Given the description of an element on the screen output the (x, y) to click on. 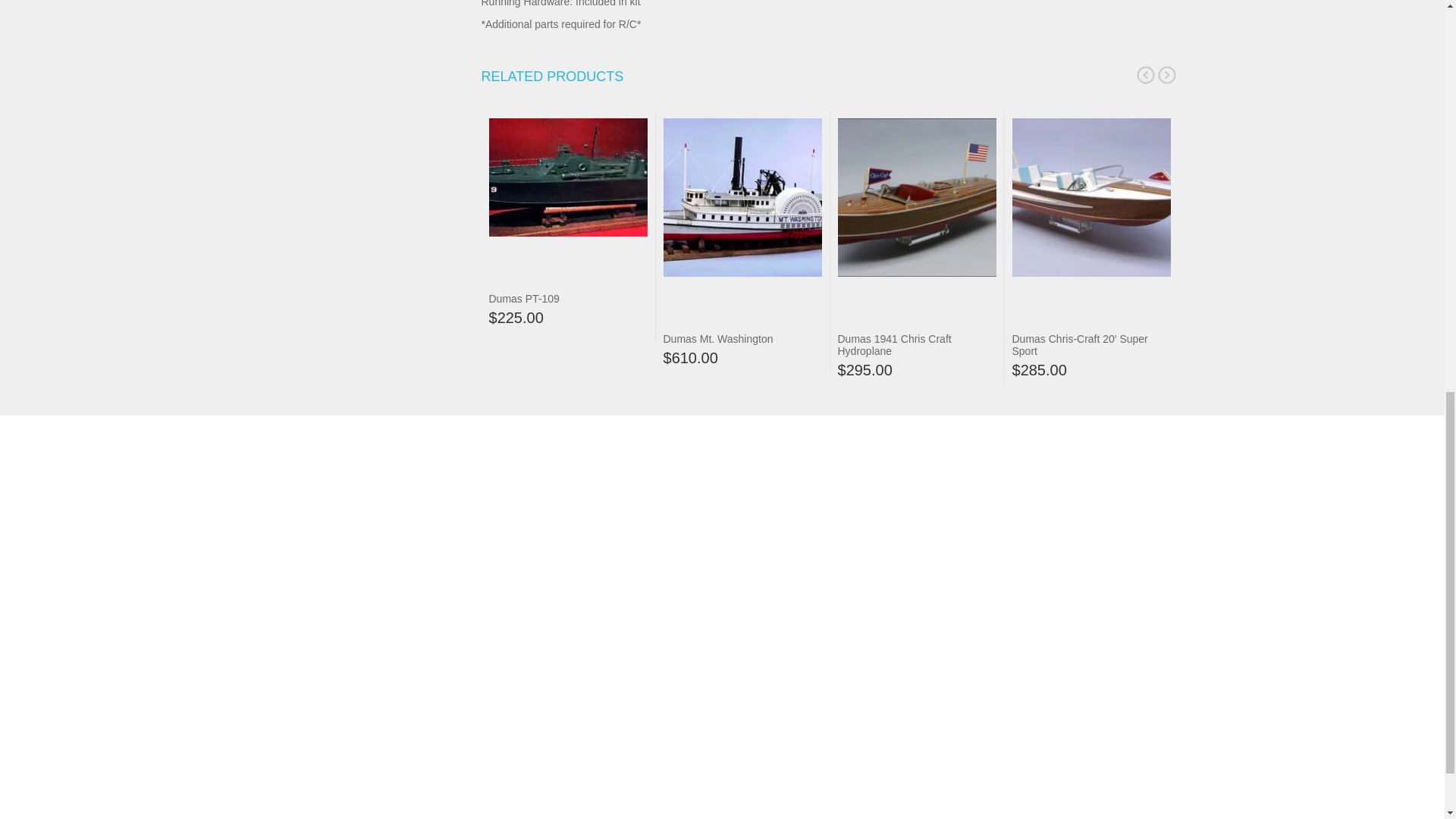
Dumas PT-109 (523, 298)
